Given the description of an element on the screen output the (x, y) to click on. 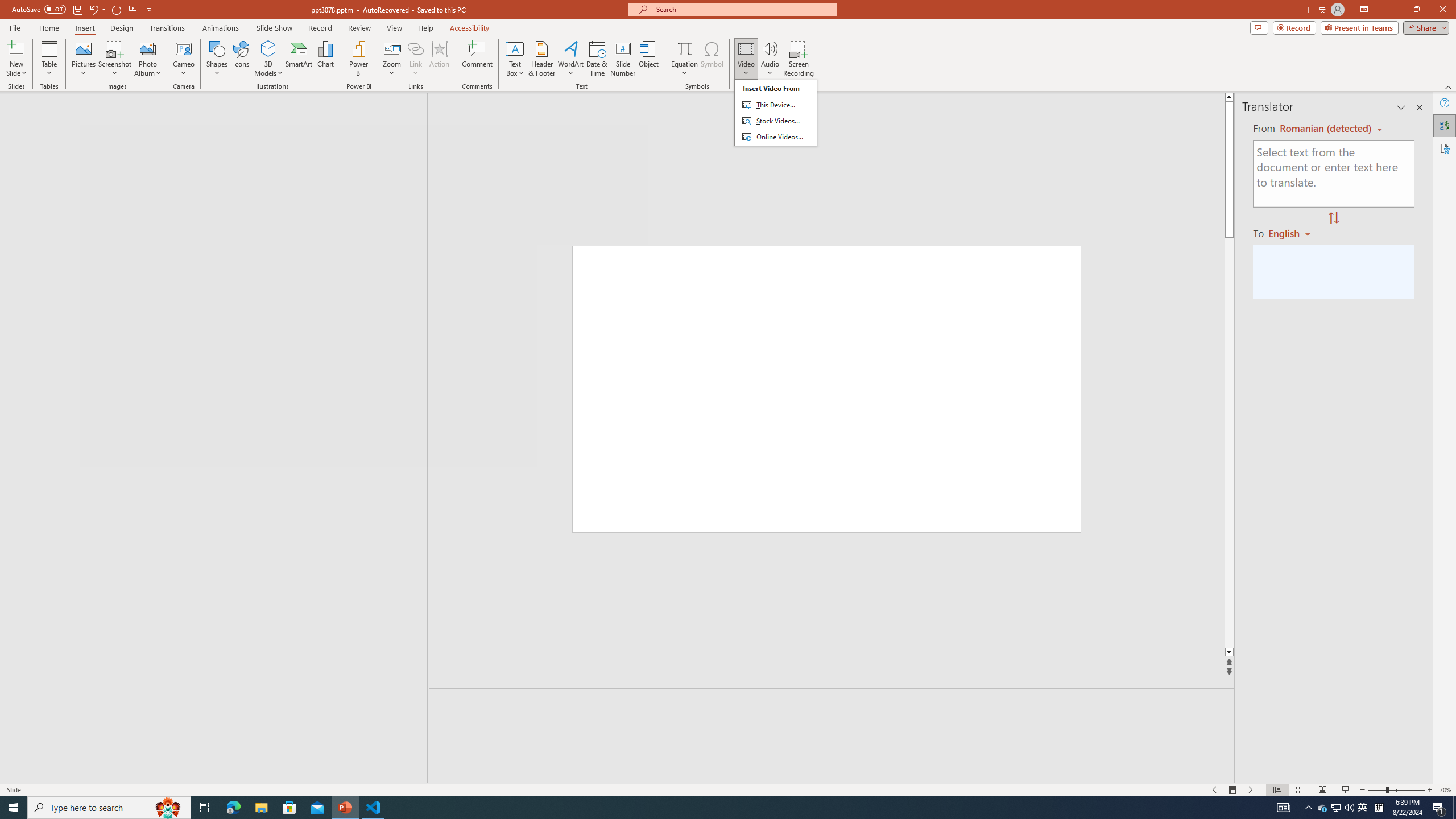
Icons (240, 58)
Power BI (358, 58)
Equation (683, 48)
&Video (774, 112)
Comment (476, 58)
Action (439, 58)
